Given the description of an element on the screen output the (x, y) to click on. 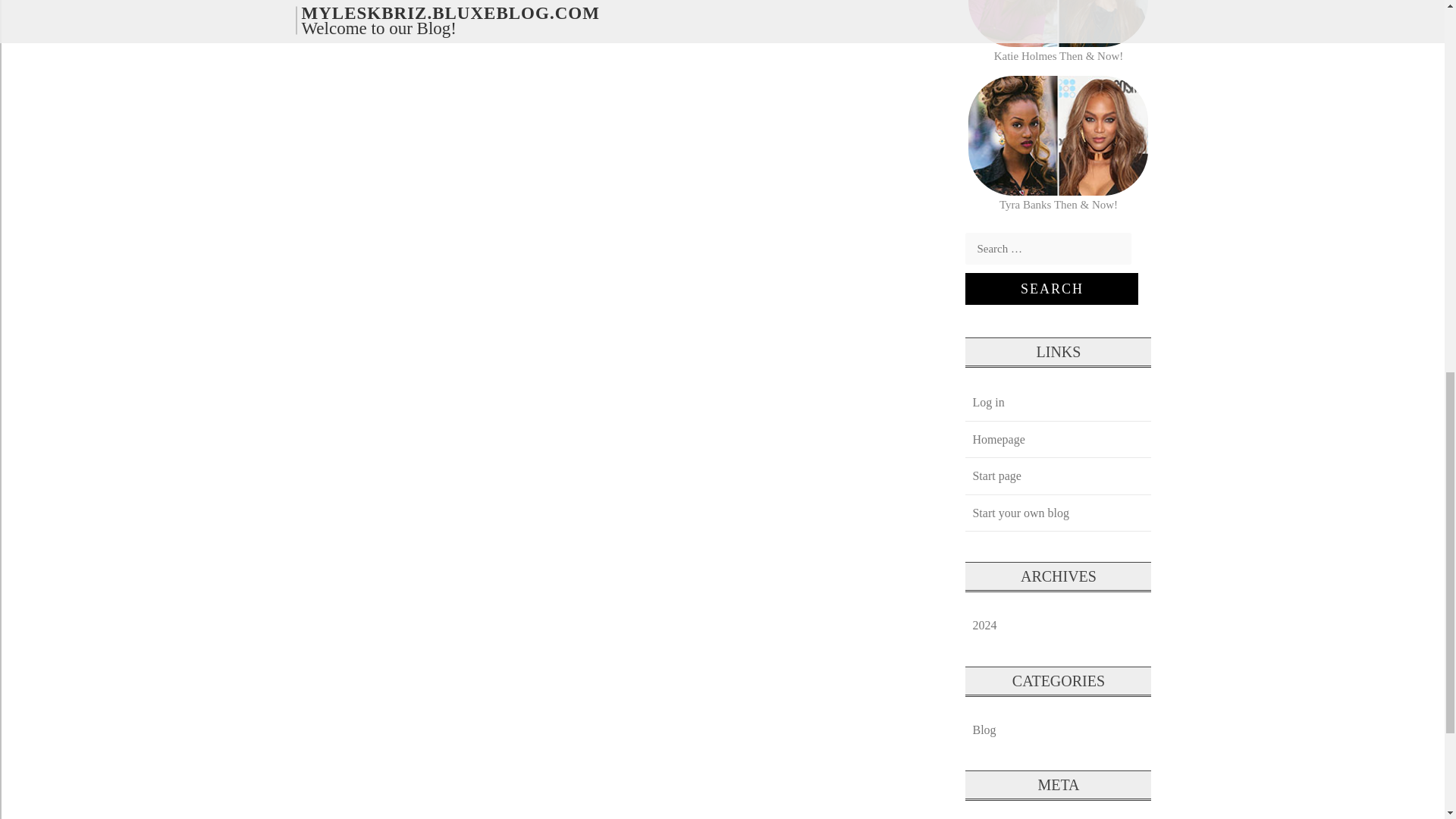
Log in (987, 402)
Blog (984, 729)
Search (1051, 288)
Search (1051, 288)
Start page (996, 475)
Homepage (997, 438)
2024 (984, 624)
Start your own blog (1020, 512)
Search (1051, 288)
